Given the description of an element on the screen output the (x, y) to click on. 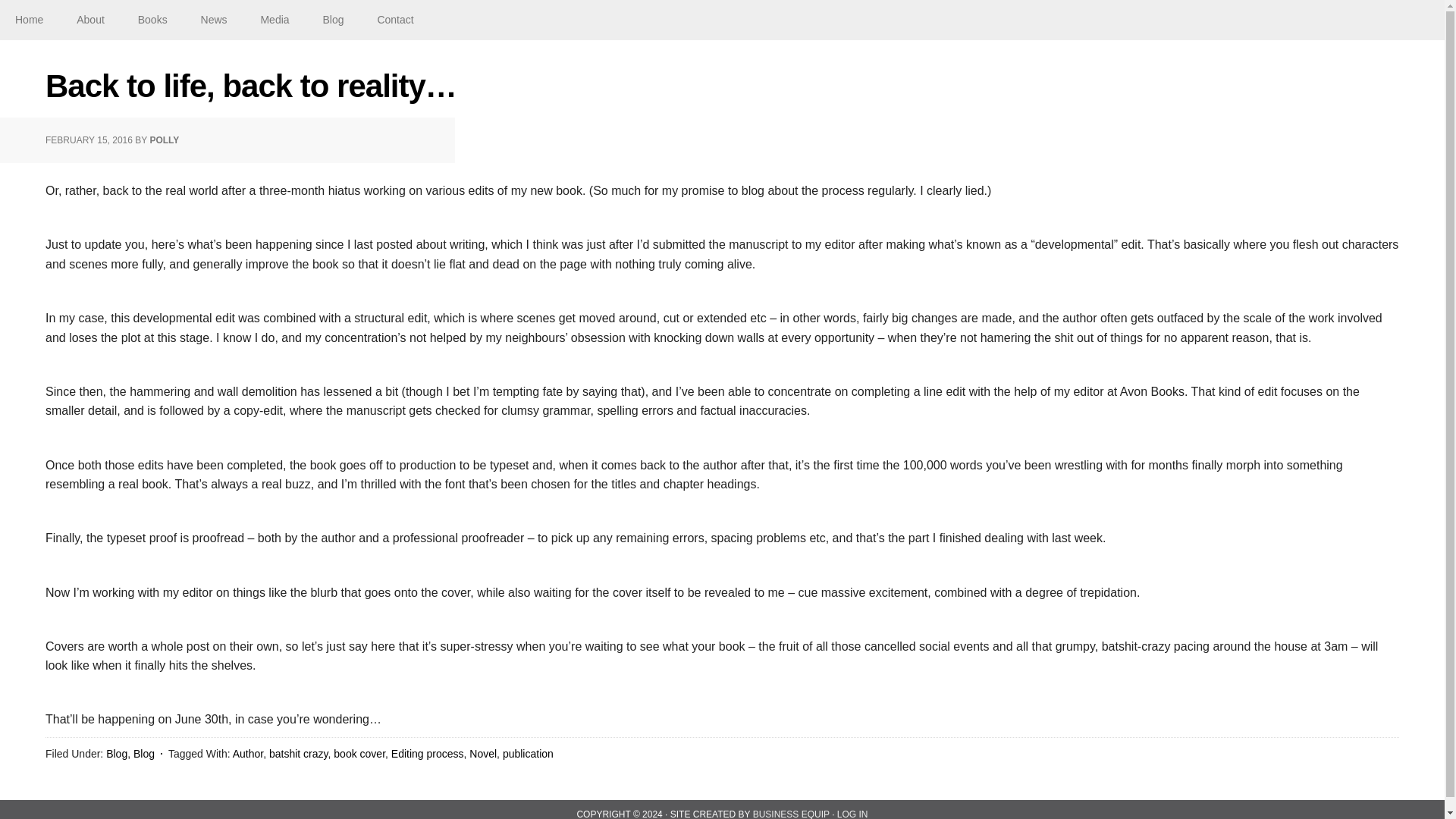
batshit crazy (299, 753)
Blog (143, 753)
Contact (394, 20)
LOG IN (852, 814)
book cover (359, 753)
Media (274, 20)
POLLY (164, 140)
Blog (117, 753)
News (214, 20)
Editing process (427, 753)
